Given the description of an element on the screen output the (x, y) to click on. 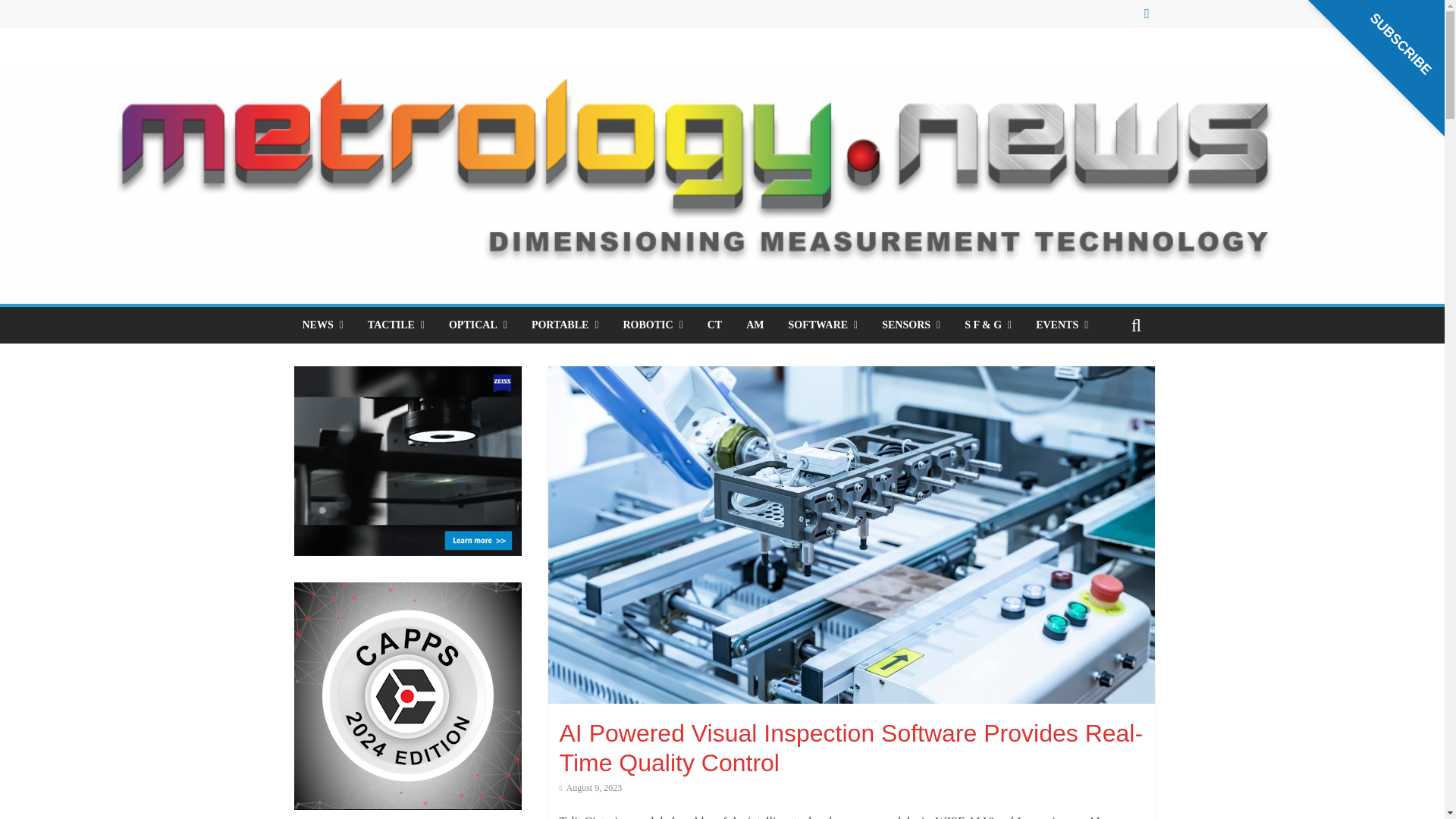
PORTABLE (565, 325)
NEWS (322, 325)
ROBOTIC (653, 325)
TACTILE (395, 325)
6:00 am (591, 787)
OPTICAL (477, 325)
CT (714, 325)
AM (754, 325)
